Given the description of an element on the screen output the (x, y) to click on. 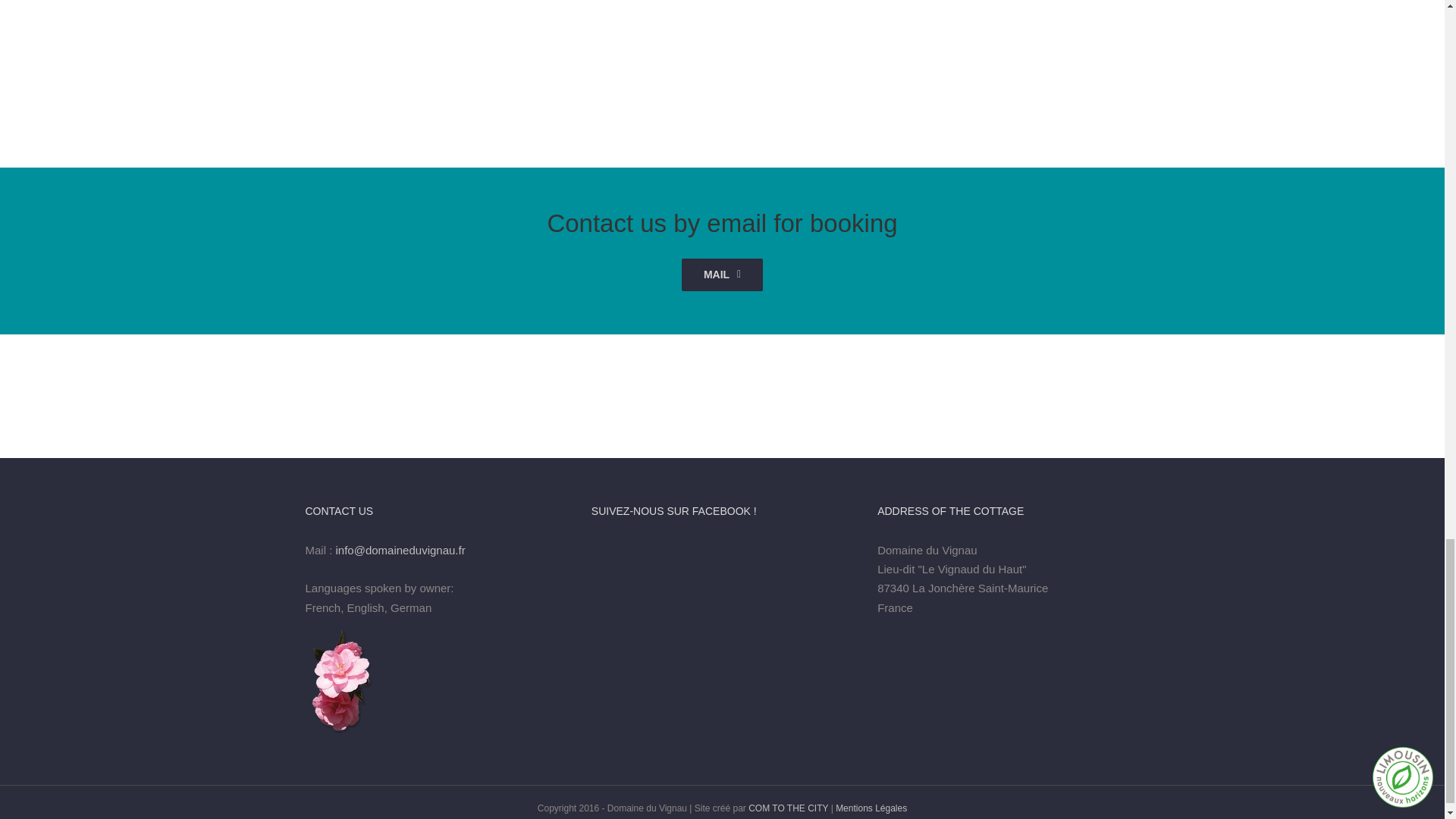
erwan fiquet (1207, 49)
MAIL (721, 274)
Image111 (722, 49)
